Given the description of an element on the screen output the (x, y) to click on. 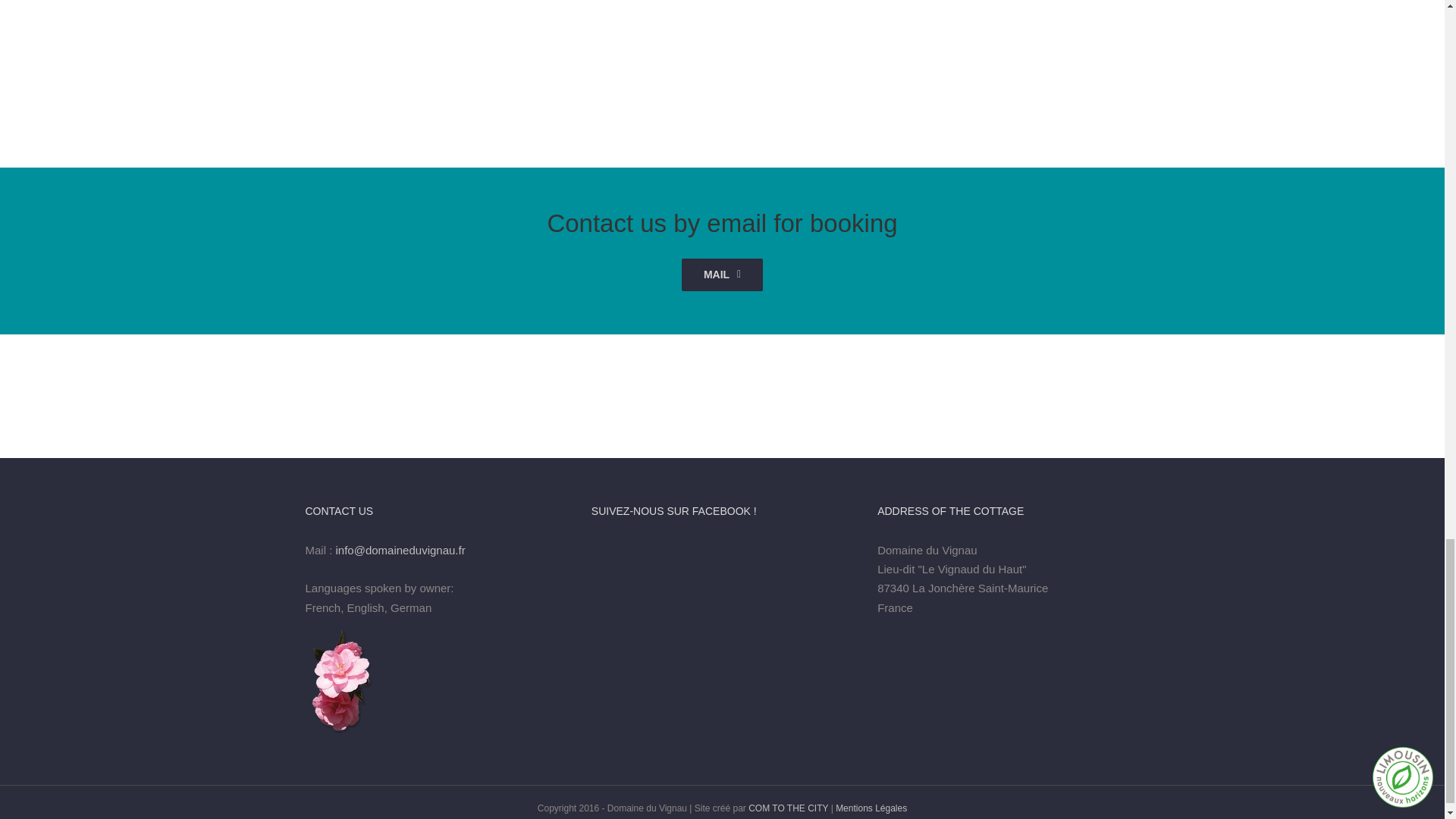
erwan fiquet (1207, 49)
MAIL (721, 274)
Image111 (722, 49)
